Given the description of an element on the screen output the (x, y) to click on. 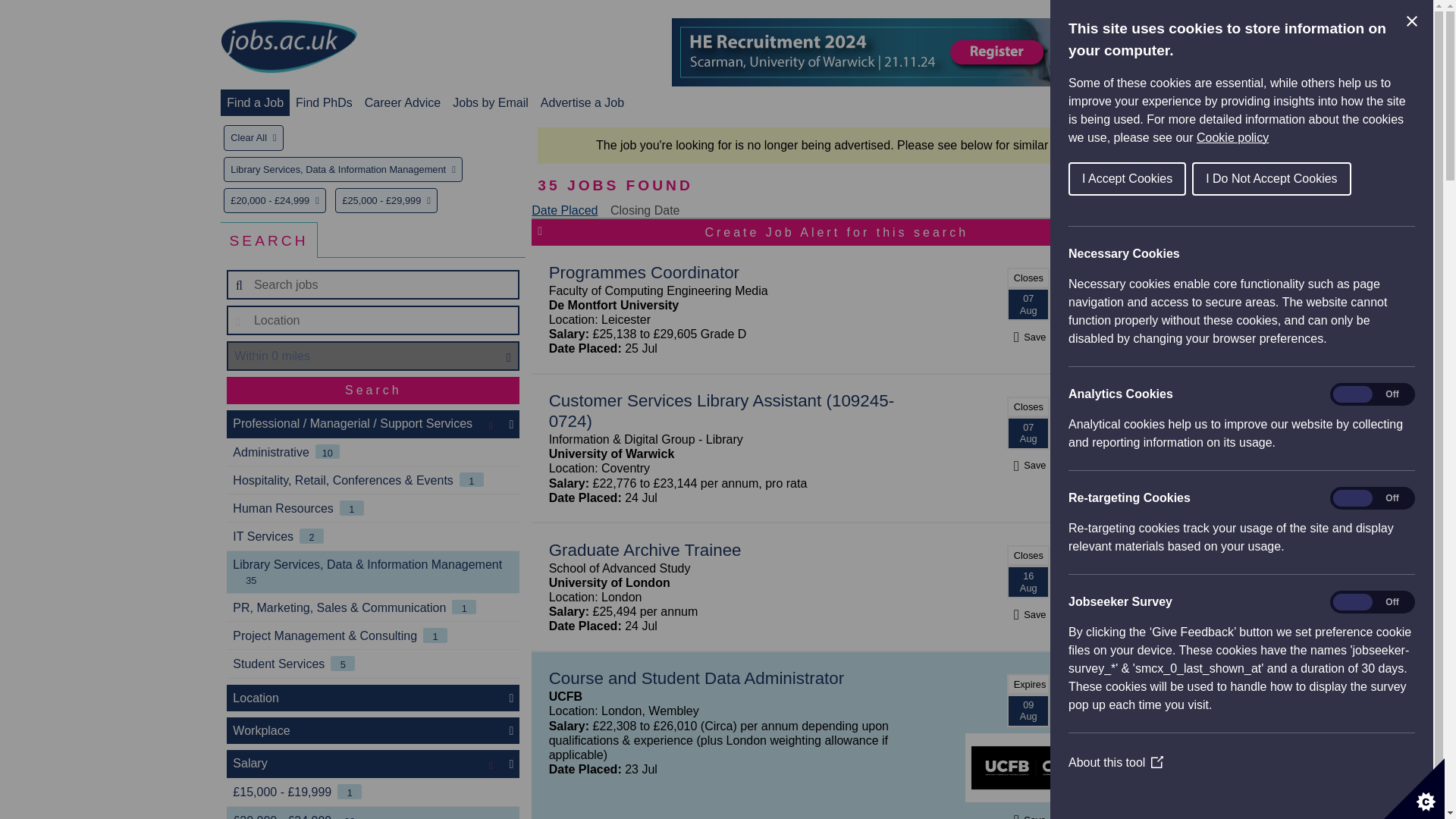
Your Account (1106, 102)
I Do Not Accept Cookies (1271, 178)
Date Placed (563, 210)
Save job (1027, 817)
Save (1027, 614)
Save (1027, 817)
Find a Job (255, 102)
distance (373, 356)
Save (1027, 336)
Search (373, 389)
Advertise a Job (582, 102)
Career Advice (403, 102)
Graduate Archive Trainee (644, 549)
Course and Student Data Administrator (696, 678)
Jobs by Email (490, 102)
